Given the description of an element on the screen output the (x, y) to click on. 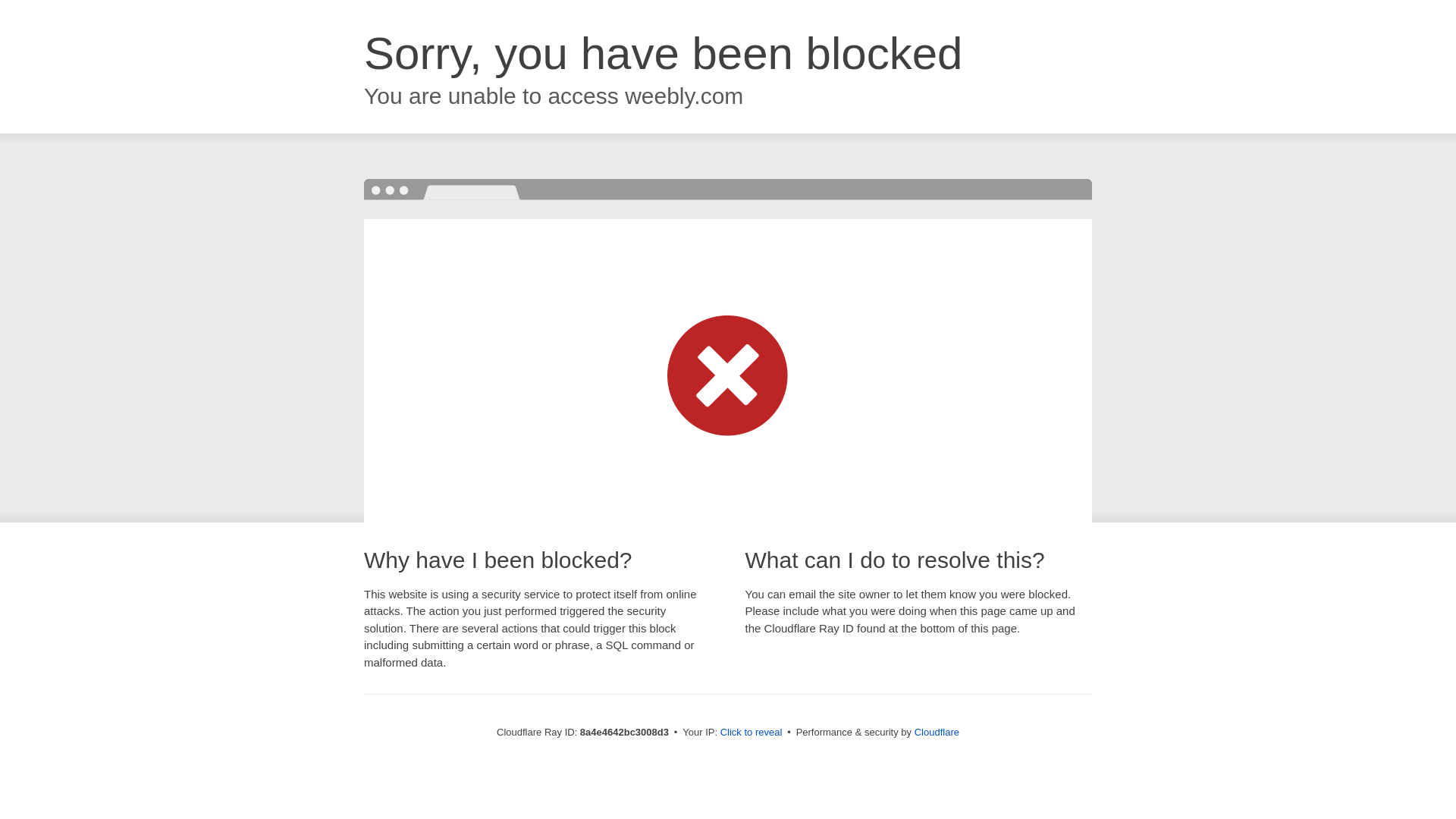
Click to reveal (751, 732)
Cloudflare (936, 731)
